Given the description of an element on the screen output the (x, y) to click on. 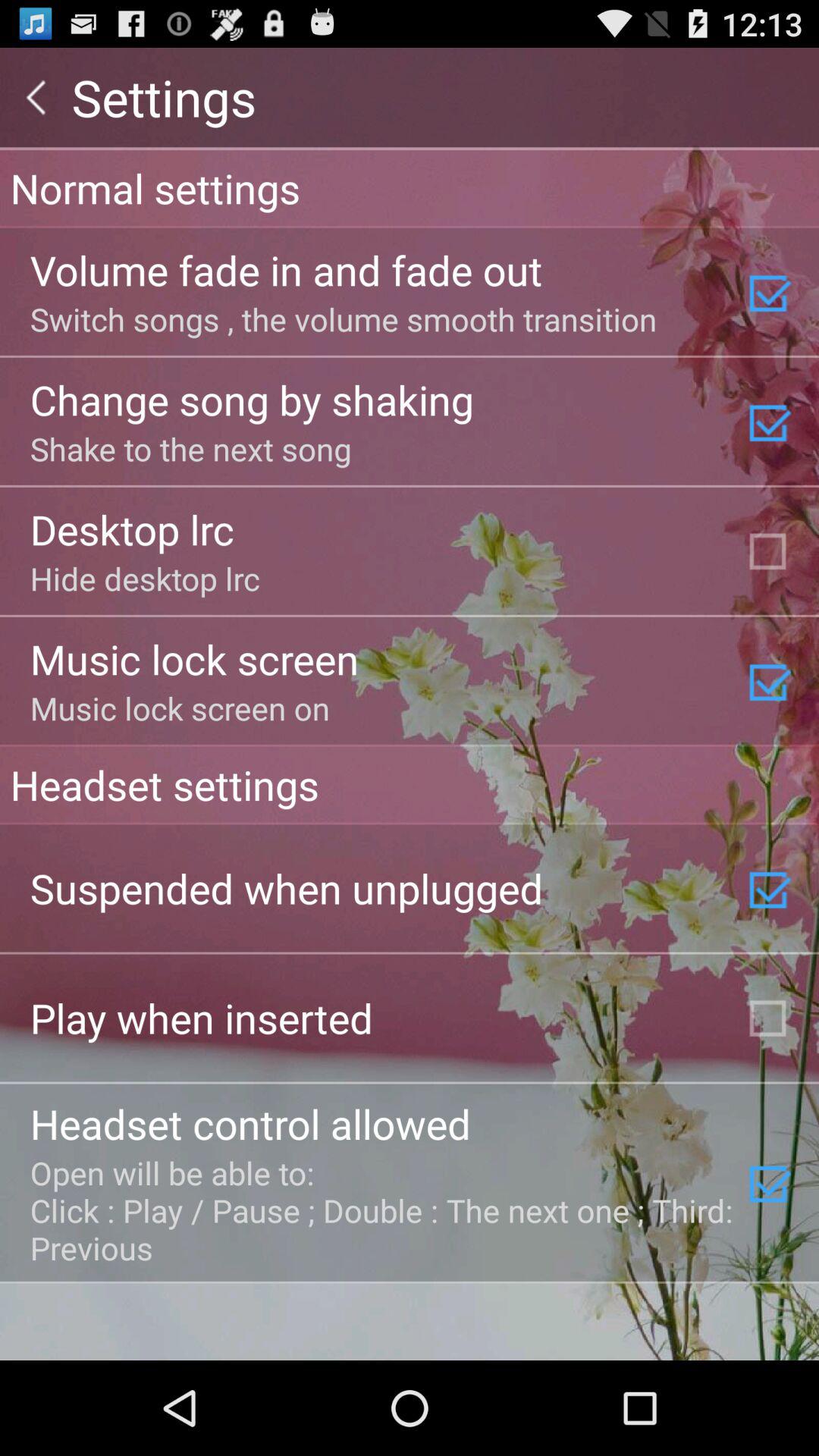
select normal settings (409, 187)
